Given the description of an element on the screen output the (x, y) to click on. 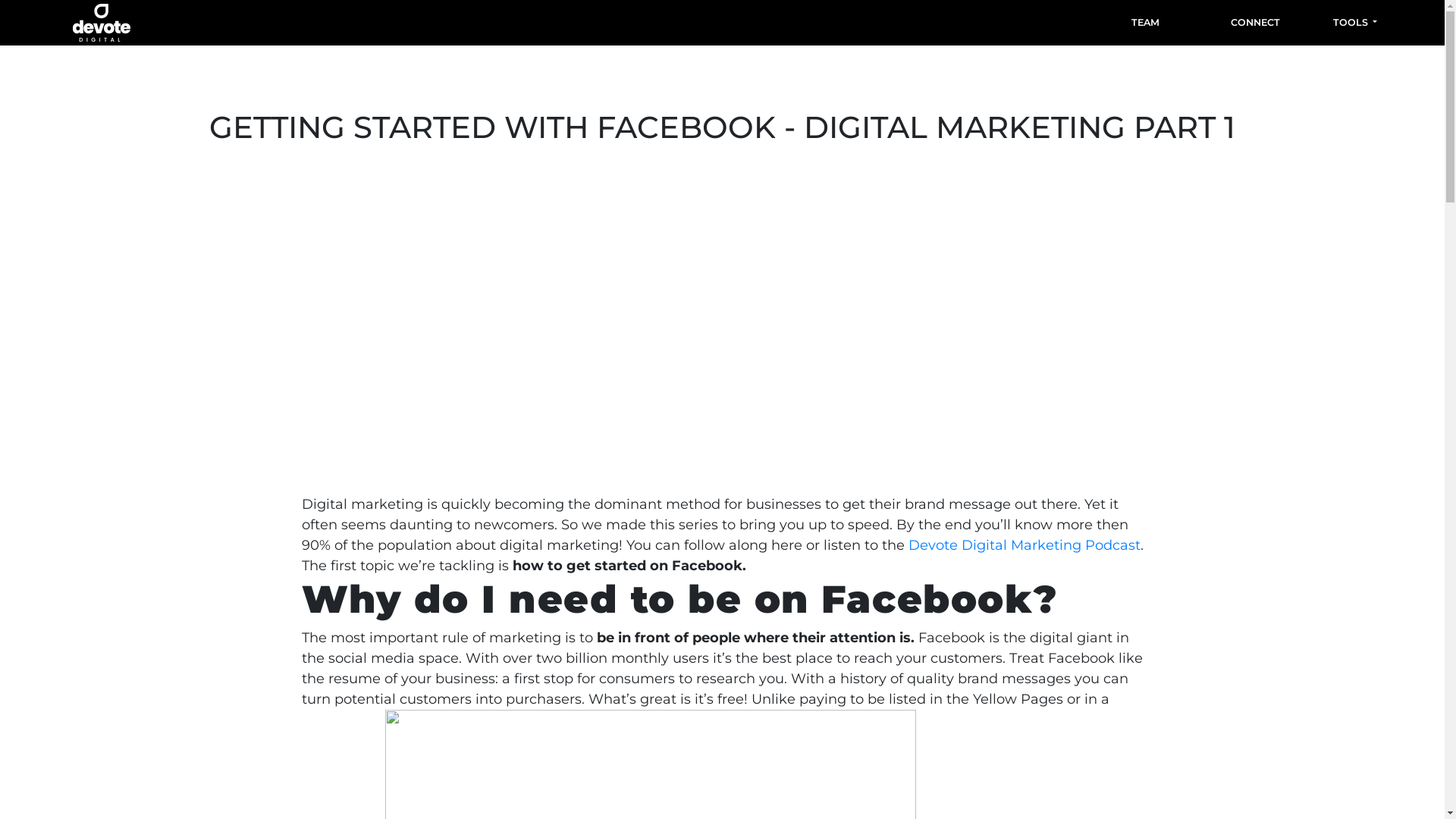
TOOLS Element type: text (1355, 22)
TEAM Element type: text (1145, 22)
Devote Digital Marketing Podcast Element type: text (1024, 544)
CONNECT Element type: text (1255, 22)
